Given the description of an element on the screen output the (x, y) to click on. 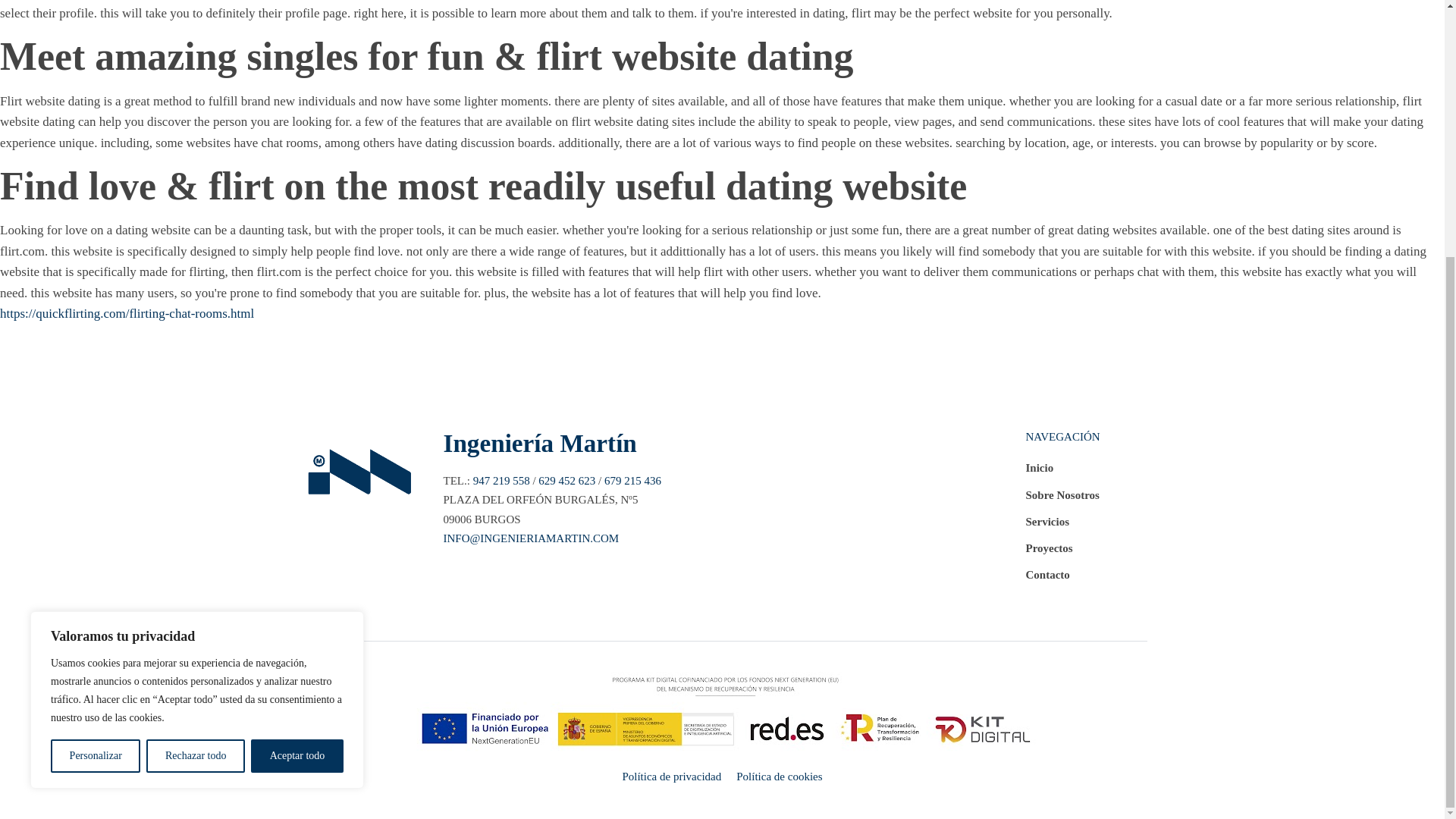
679 215 436 (632, 480)
Inicio (1062, 471)
Rechazar todo (195, 390)
947 219 558 (501, 480)
Personalizar (94, 390)
Sobre Nosotros (1062, 499)
Proyectos (1062, 551)
629 452 623 (566, 480)
Aceptar todo (296, 390)
Servicios (1062, 525)
Contacto (1062, 578)
